Given the description of an element on the screen output the (x, y) to click on. 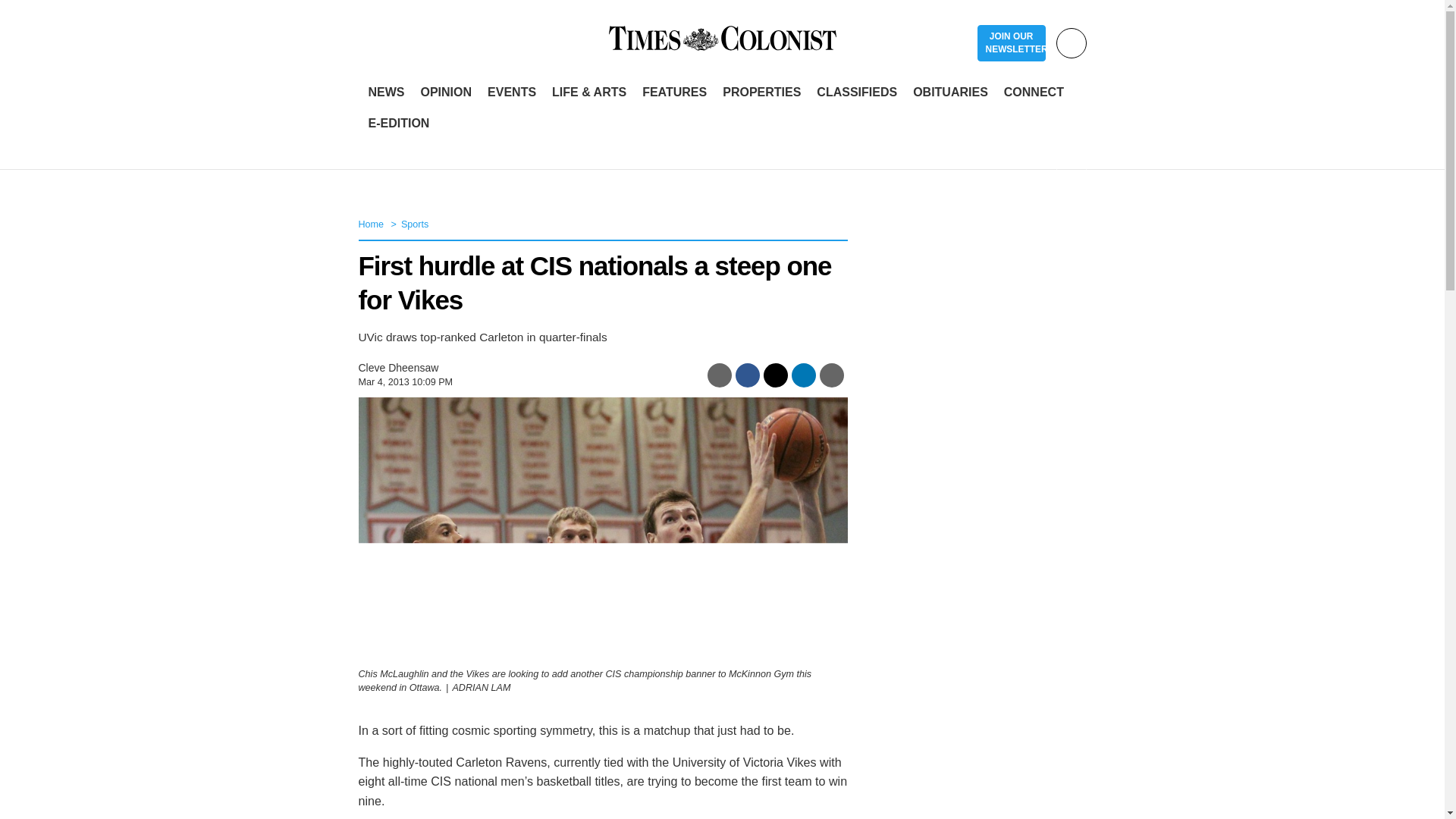
EVENTS (511, 92)
OPINION (445, 92)
NEWS (386, 92)
JOIN OUR NEWSLETTER (1010, 43)
